Given the description of an element on the screen output the (x, y) to click on. 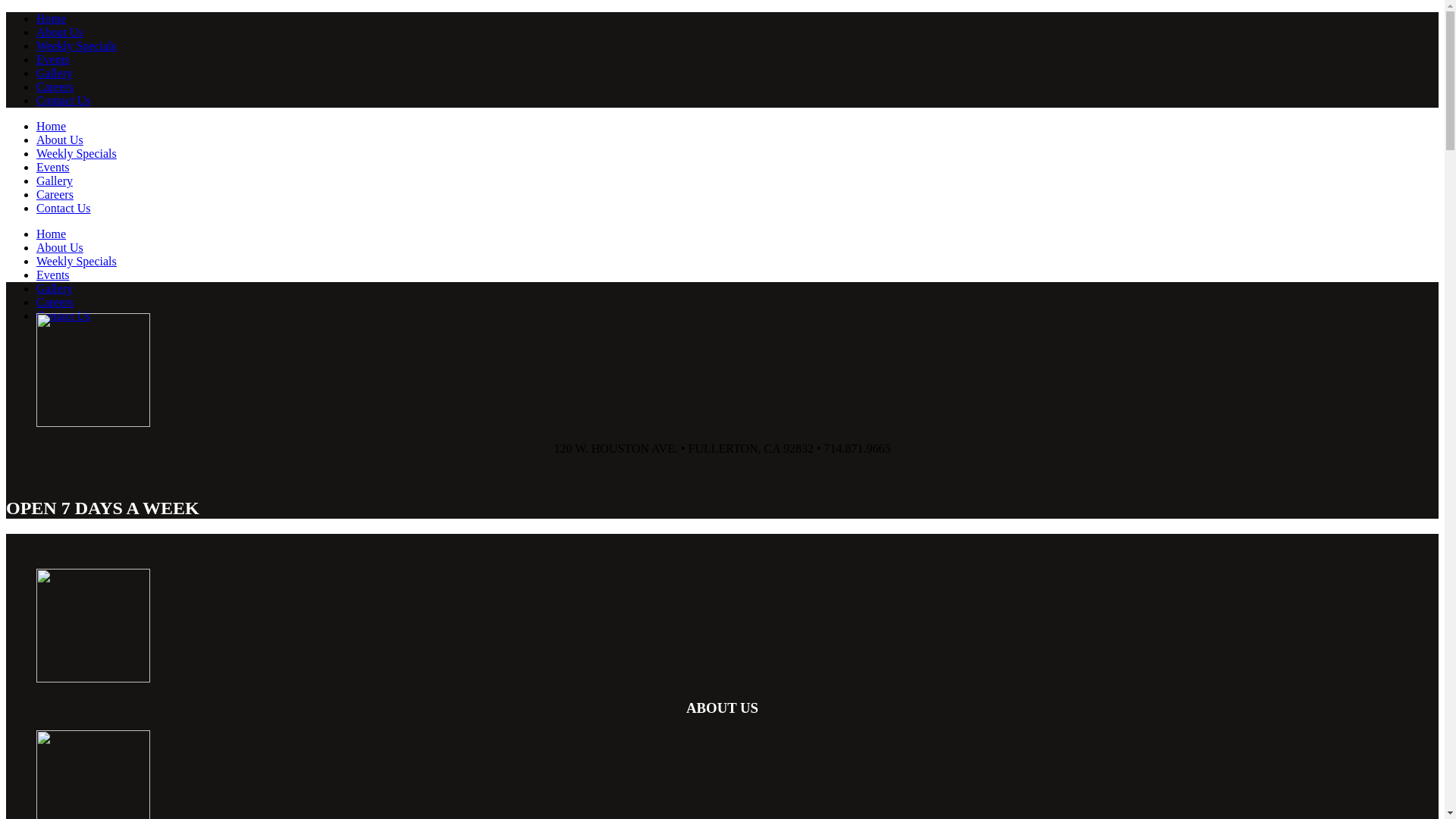
Gallery Element type: text (54, 72)
Events Element type: text (52, 59)
Weekly Specials Element type: text (76, 260)
About Us Element type: text (59, 139)
Contact Us Element type: text (63, 207)
About Us Element type: text (59, 247)
Careers Element type: text (54, 194)
Weekly Specials Element type: text (76, 45)
Contact Us Element type: text (63, 315)
About Us Element type: text (59, 31)
Gallery Element type: text (54, 180)
Home Element type: text (50, 18)
Careers Element type: text (54, 301)
Contact Us Element type: text (63, 100)
Gallery Element type: text (54, 288)
Home Element type: text (50, 233)
Events Element type: text (52, 166)
Events Element type: text (52, 274)
Weekly Specials Element type: text (76, 153)
Home Element type: text (50, 125)
Careers Element type: text (54, 86)
